Given the description of an element on the screen output the (x, y) to click on. 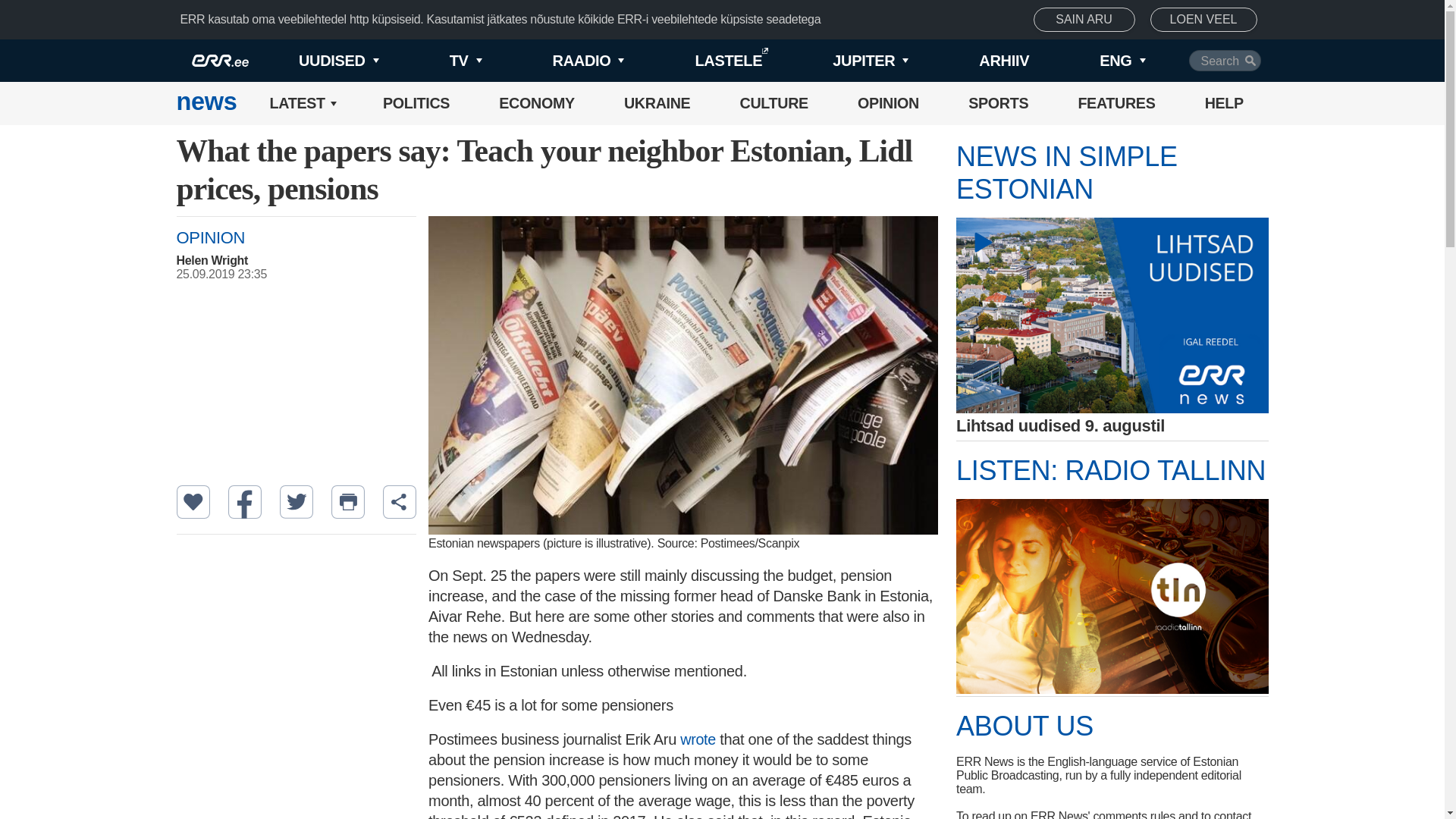
25.09.2019 23:35 (302, 274)
UUDISED (314, 60)
RAADIO (563, 60)
SAIN ARU (1084, 19)
Avalehele (205, 103)
TV (440, 60)
LOEN VEEL (1203, 19)
